Given the description of an element on the screen output the (x, y) to click on. 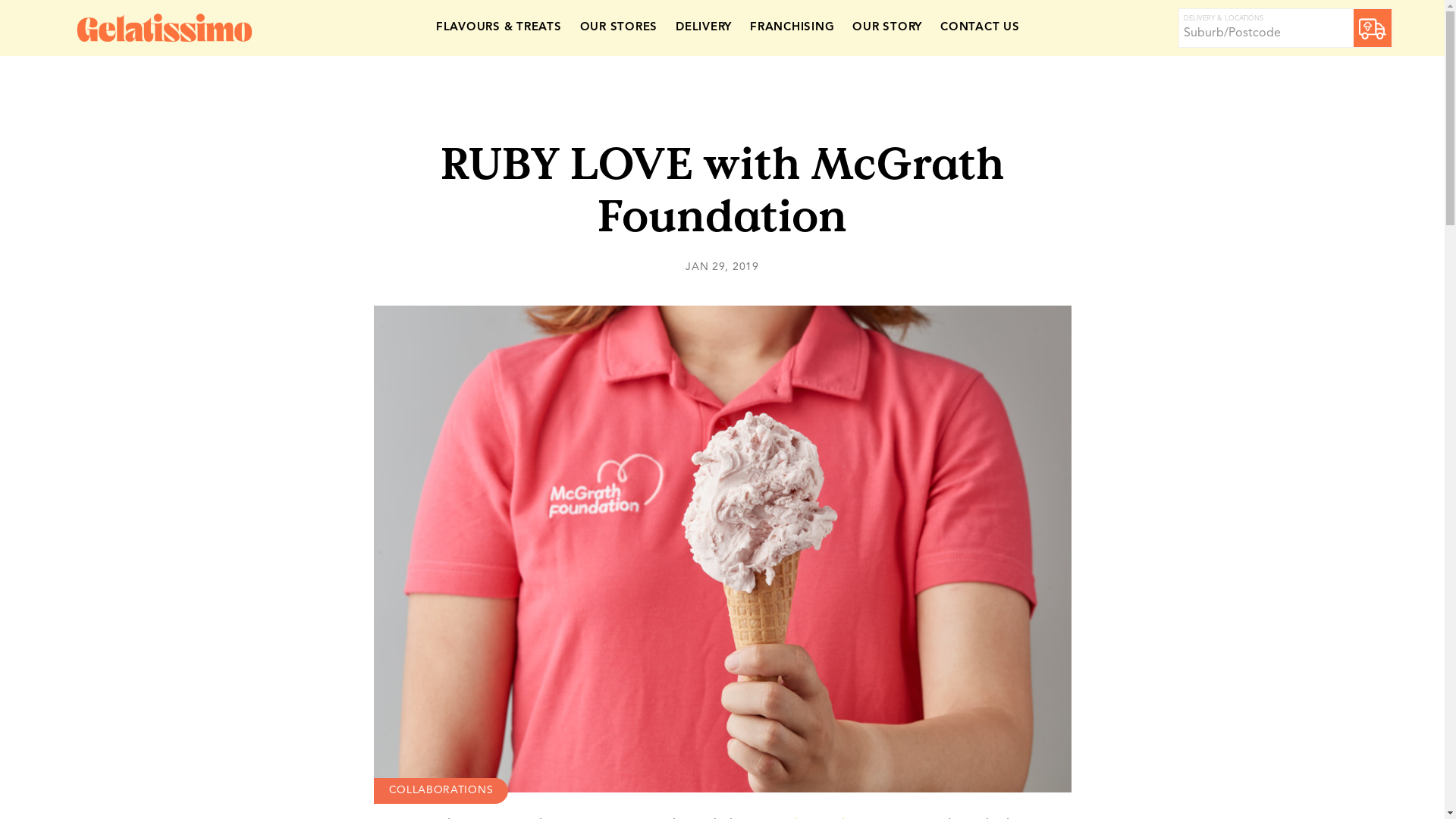
OUR STORES Element type: text (619, 28)
COLLABORATIONS Element type: text (440, 790)
Skip to primary navigation Element type: text (0, 0)
Gelatissimo Element type: hover (164, 28)
DELIVERY Element type: text (703, 28)
FRANCHISING Element type: text (791, 28)
OUR STORY Element type: text (887, 28)
FLAVOURS & TREATS Element type: text (498, 28)
CONTACT US Element type: text (980, 28)
